Given the description of an element on the screen output the (x, y) to click on. 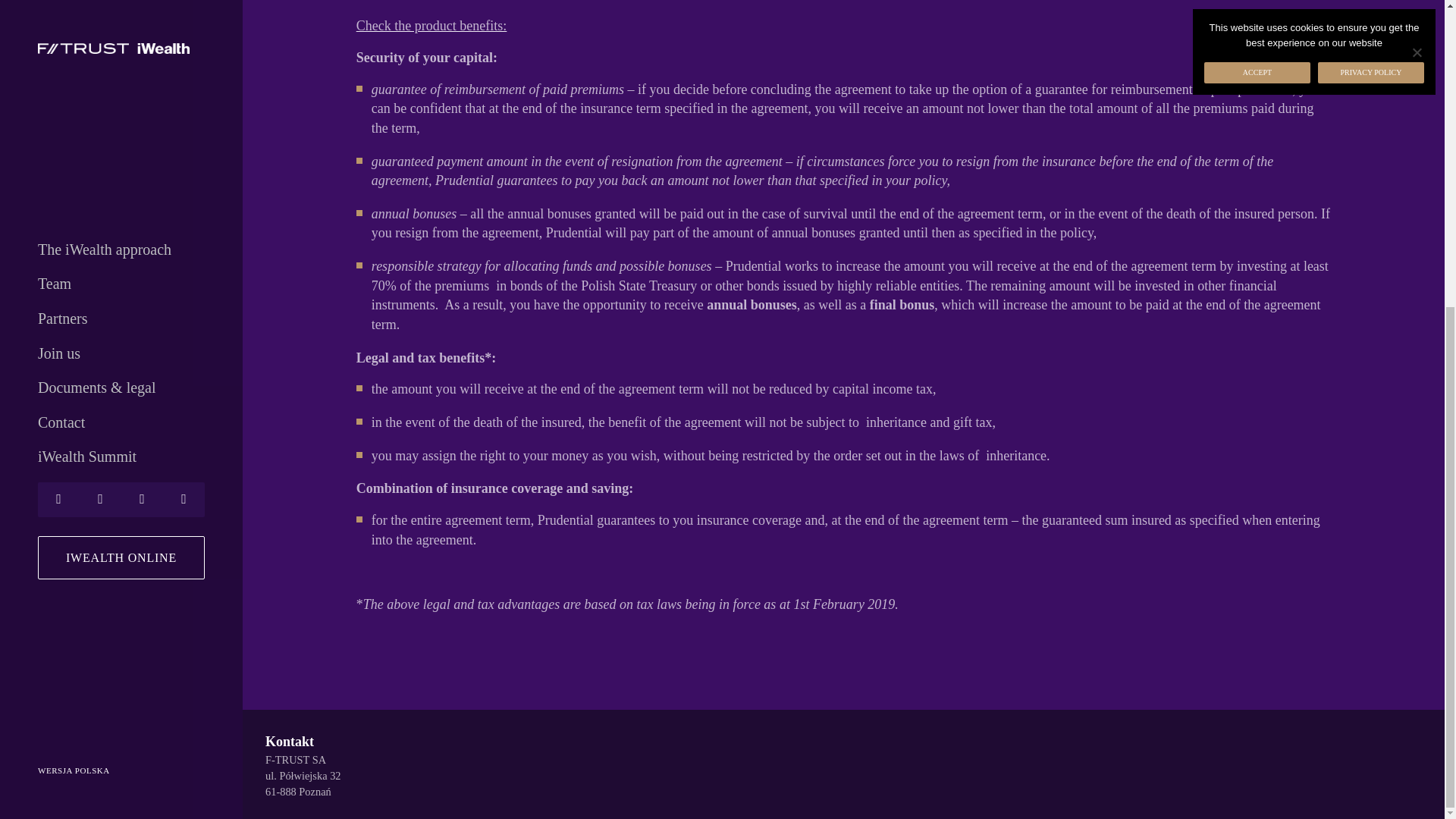
WERSJA POLSKA (121, 287)
IWEALTH ONLINE (121, 73)
